Given the description of an element on the screen output the (x, y) to click on. 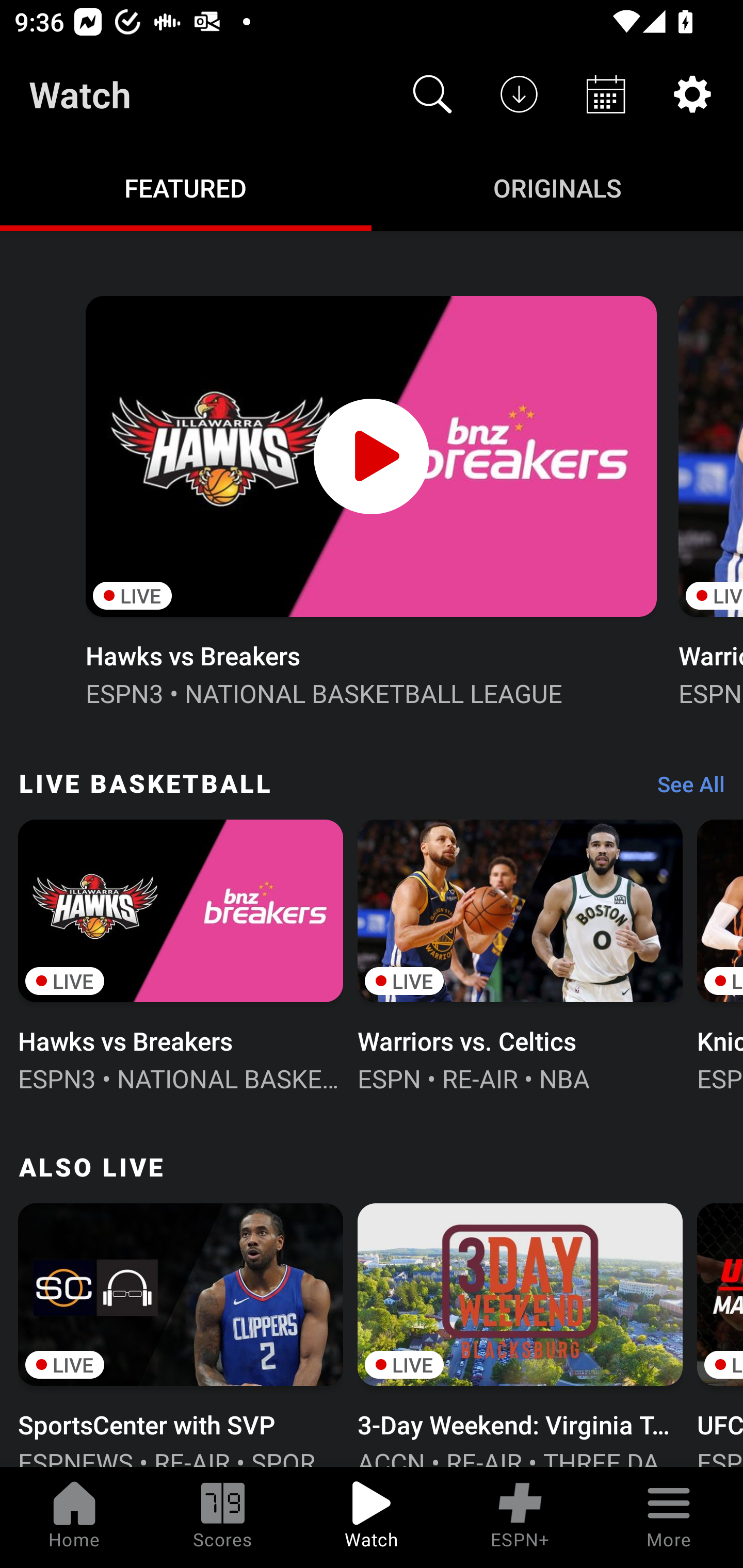
Search (432, 93)
Downloads (518, 93)
Schedule (605, 93)
Settings (692, 93)
Originals ORIGINALS (557, 187)
See All (683, 788)
LIVE Warriors vs. Celtics ESPN • RE-AIR • NBA (519, 954)
Home (74, 1517)
Scores (222, 1517)
ESPN+ (519, 1517)
More (668, 1517)
